Given the description of an element on the screen output the (x, y) to click on. 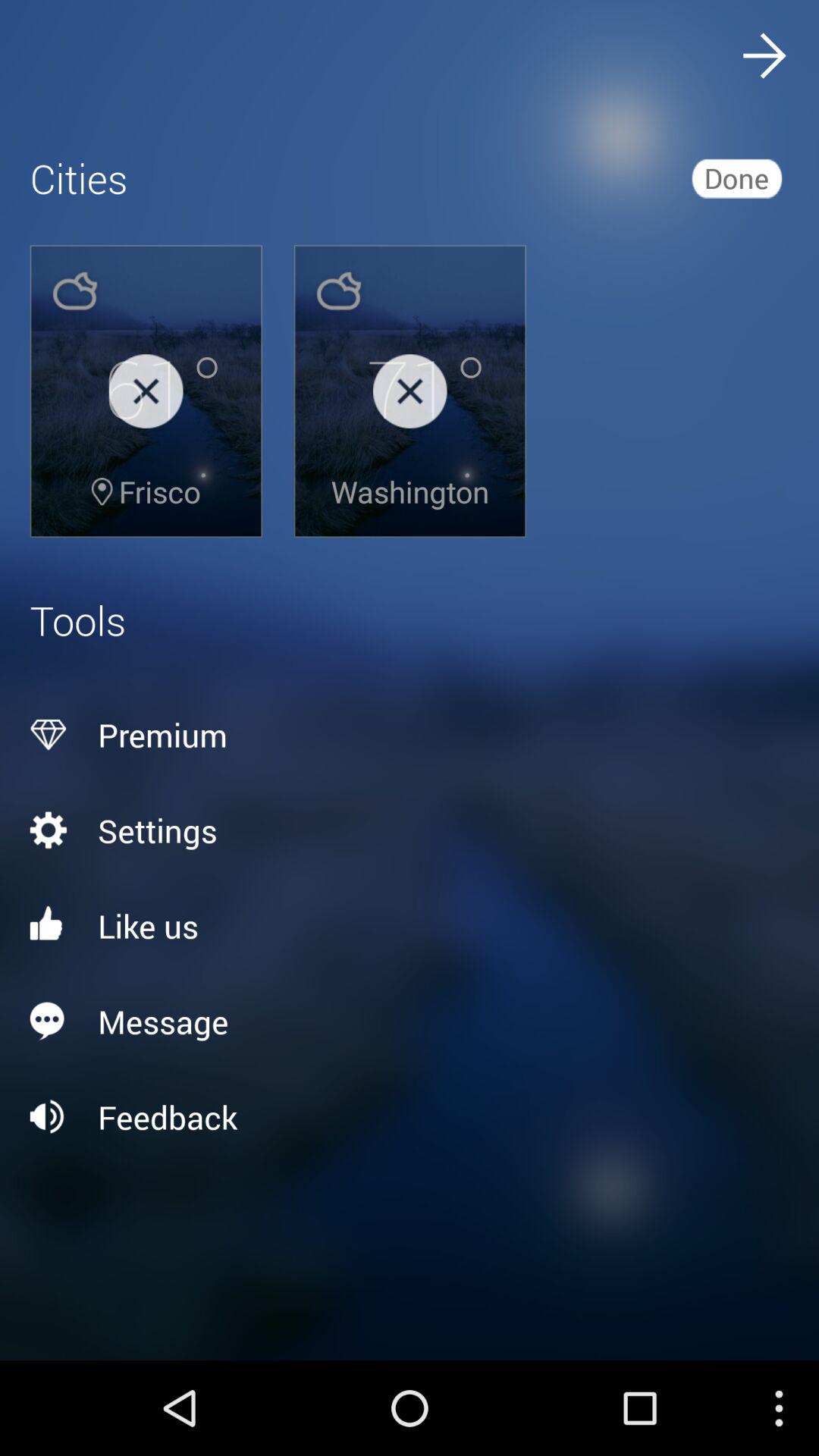
open the icon above premium (736, 178)
